Given the description of an element on the screen output the (x, y) to click on. 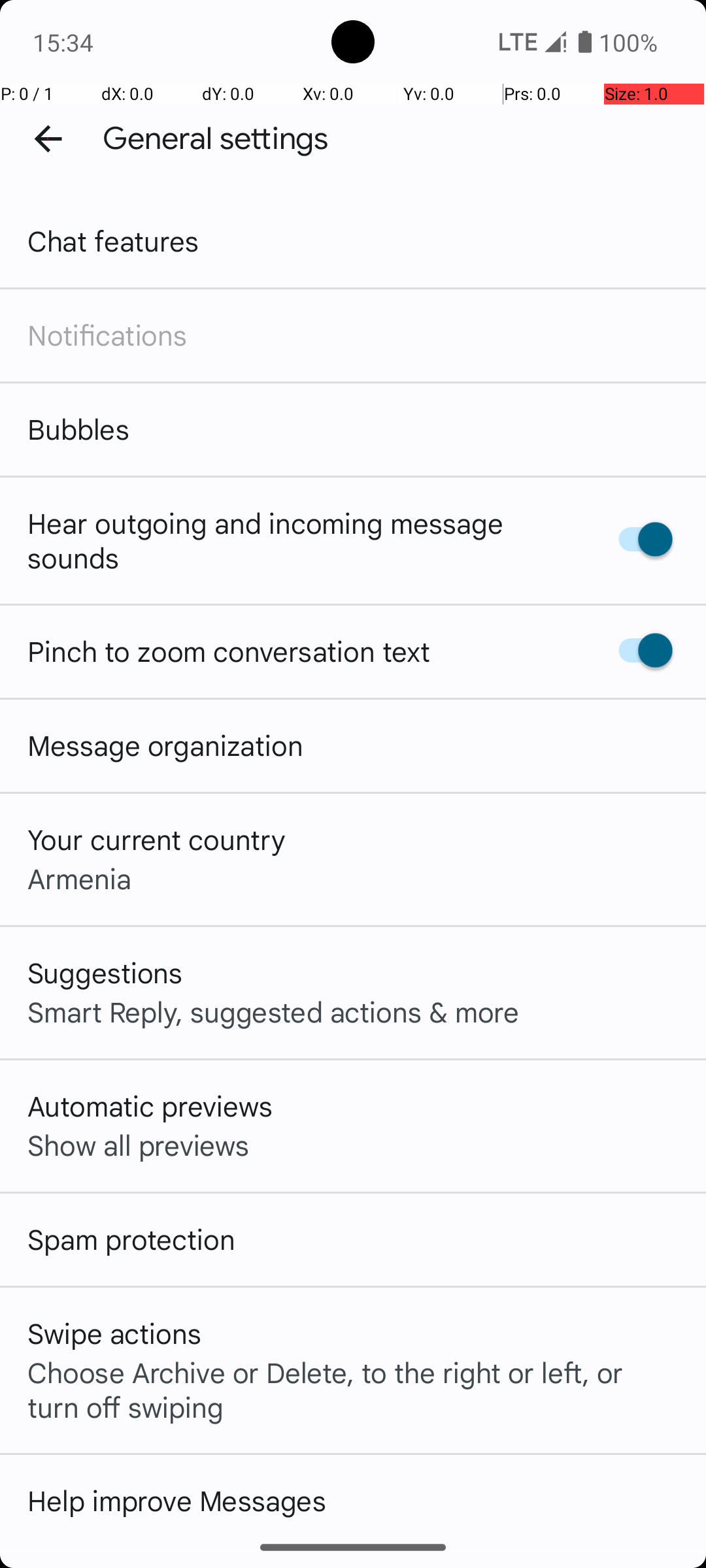
General settings Element type: android.widget.TextView (215, 138)
Chat features Element type: android.widget.TextView (113, 240)
Hear outgoing and incoming message sounds Element type: android.widget.TextView (299, 539)
Pinch to zoom conversation text Element type: android.widget.TextView (228, 650)
Message organization Element type: android.widget.TextView (165, 744)
Your current country Element type: android.widget.TextView (156, 838)
Armenia Element type: android.widget.TextView (79, 877)
Smart Reply, suggested actions & more Element type: android.widget.TextView (273, 1010)
Automatic previews Element type: android.widget.TextView (149, 1105)
Show all previews Element type: android.widget.TextView (138, 1144)
Spam protection Element type: android.widget.TextView (131, 1238)
Swipe actions Element type: android.widget.TextView (114, 1332)
Choose Archive or Delete, to the right or left, or turn off swiping Element type: android.widget.TextView (352, 1388)
Help improve Messages Element type: android.widget.TextView (176, 1499)
